Given the description of an element on the screen output the (x, y) to click on. 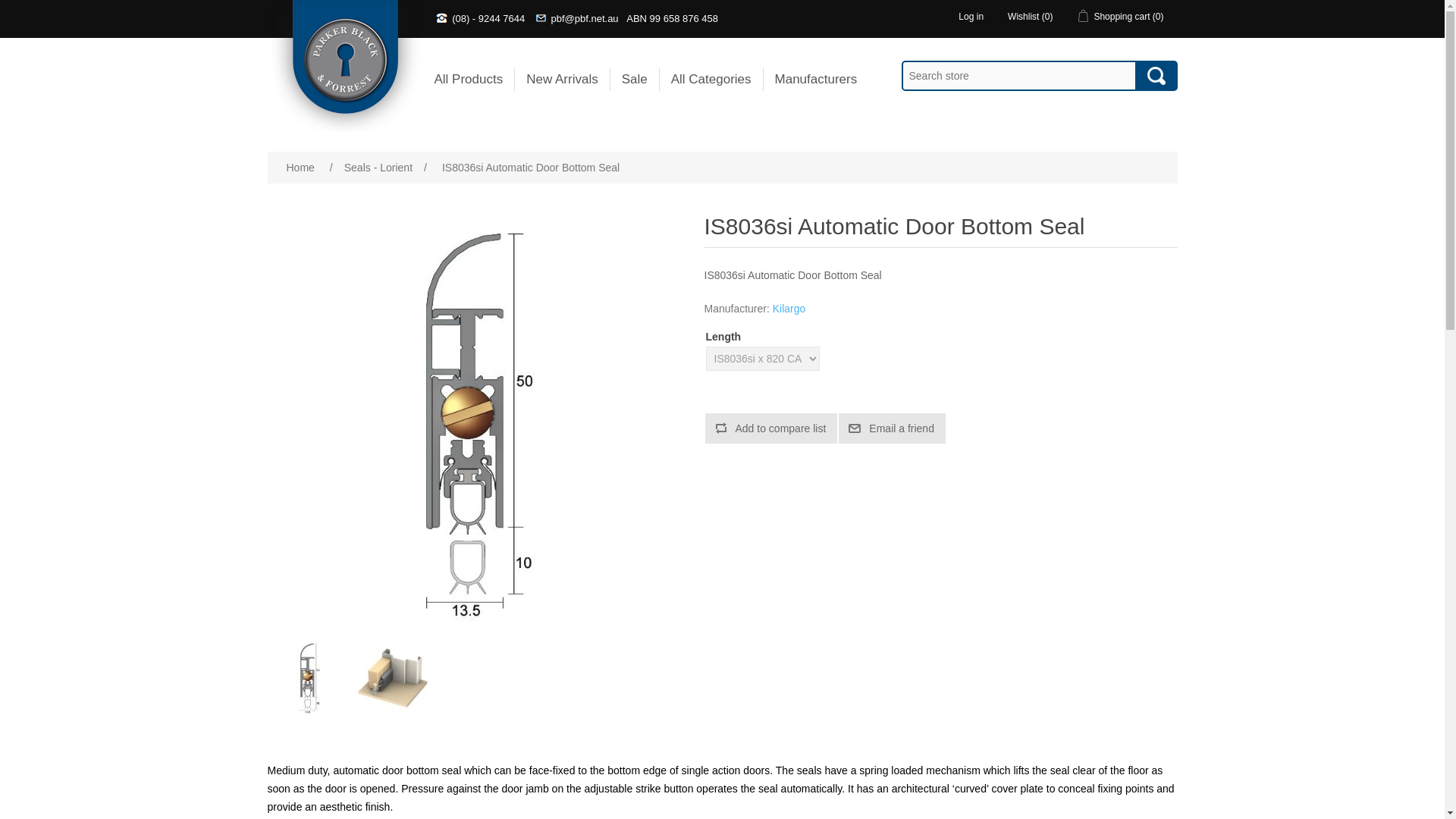
Email a friend (891, 428)
All Products (468, 78)
Add to compare list (771, 428)
Seals - Lorient (378, 166)
IS8036si Automatic Door Bottom Seal (308, 677)
New Arrivals (561, 78)
Sale (634, 78)
Kilargo (789, 307)
Manufacturers (815, 78)
Home (299, 166)
IS8036si Automatic Door Bottom Seal (392, 677)
All Categories (710, 78)
